Given the description of an element on the screen output the (x, y) to click on. 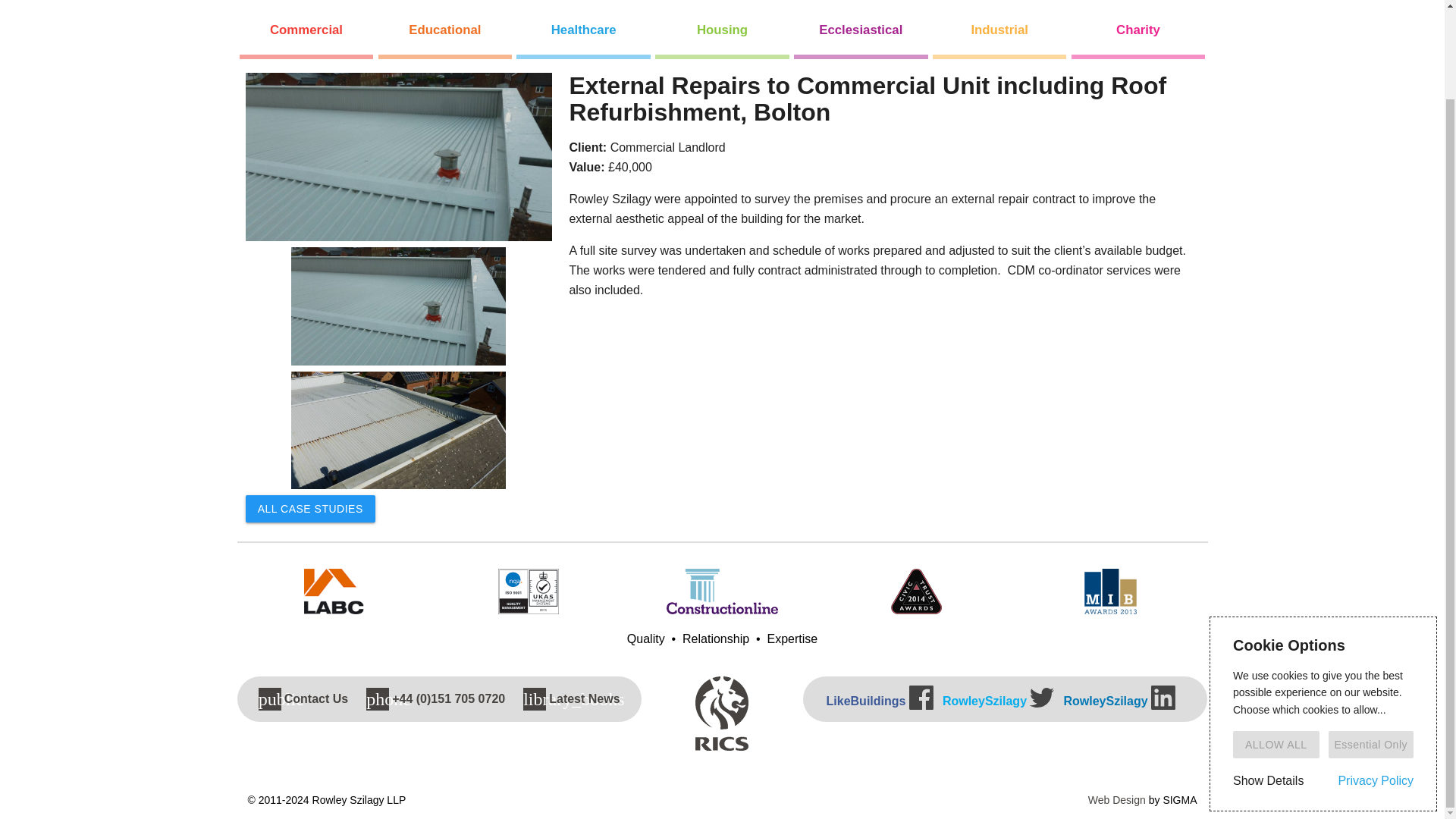
Healthcare (582, 29)
RowleySzilagy (1118, 700)
Linkedin (1162, 697)
Web Design (1116, 799)
Twitter (1041, 697)
RowleySzilagy (998, 700)
Industrial (999, 29)
ALL CASE STUDIES (310, 508)
Essential Only (1370, 642)
Commercial (306, 29)
